Given the description of an element on the screen output the (x, y) to click on. 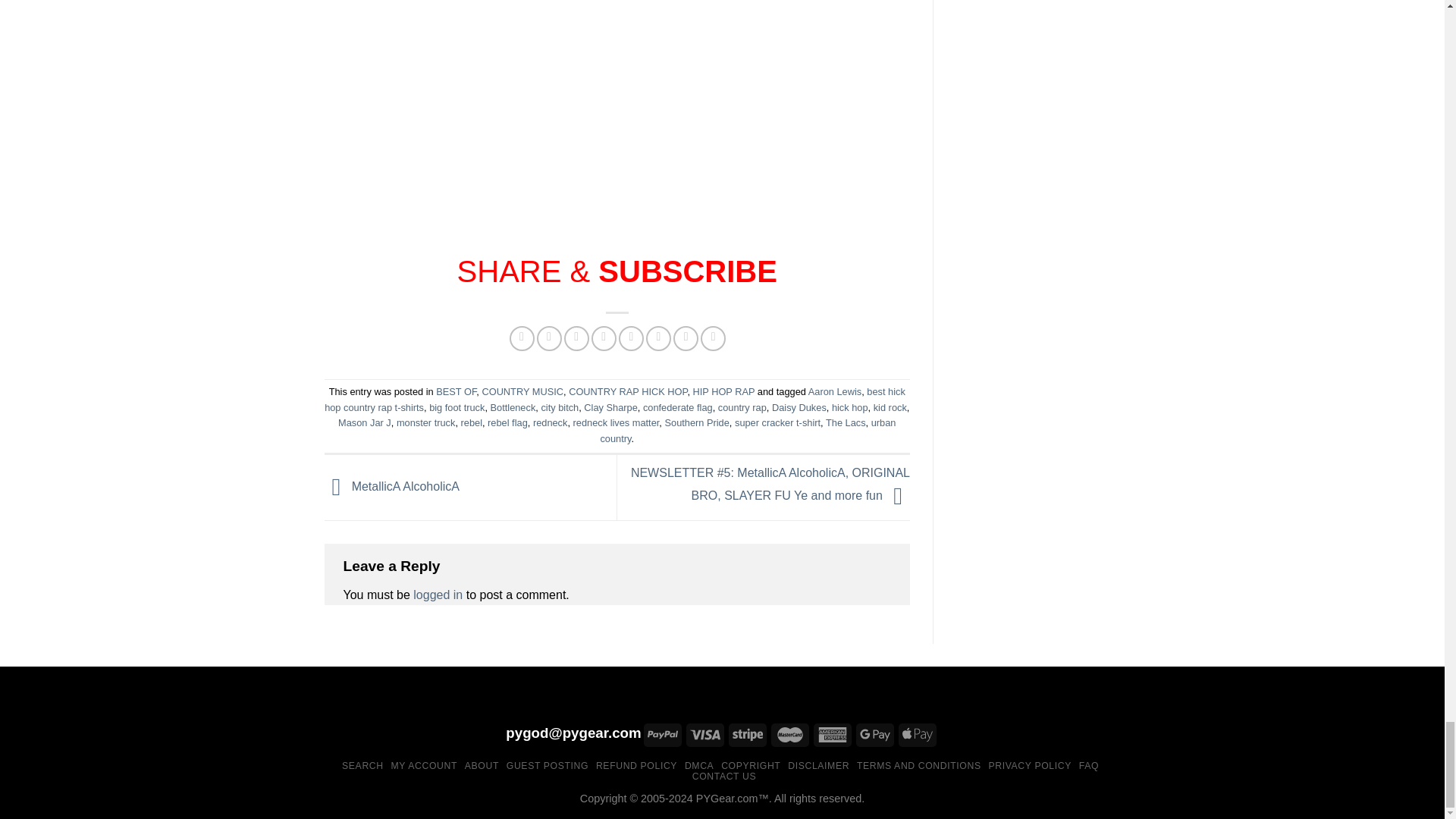
Share on Twitter (549, 338)
Share on LinkedIn (658, 338)
Share on Facebook (521, 338)
Email to a Friend (576, 338)
Share on VKontakte (630, 338)
YouTube video player (536, 95)
Pin on Pinterest (603, 338)
